Given the description of an element on the screen output the (x, y) to click on. 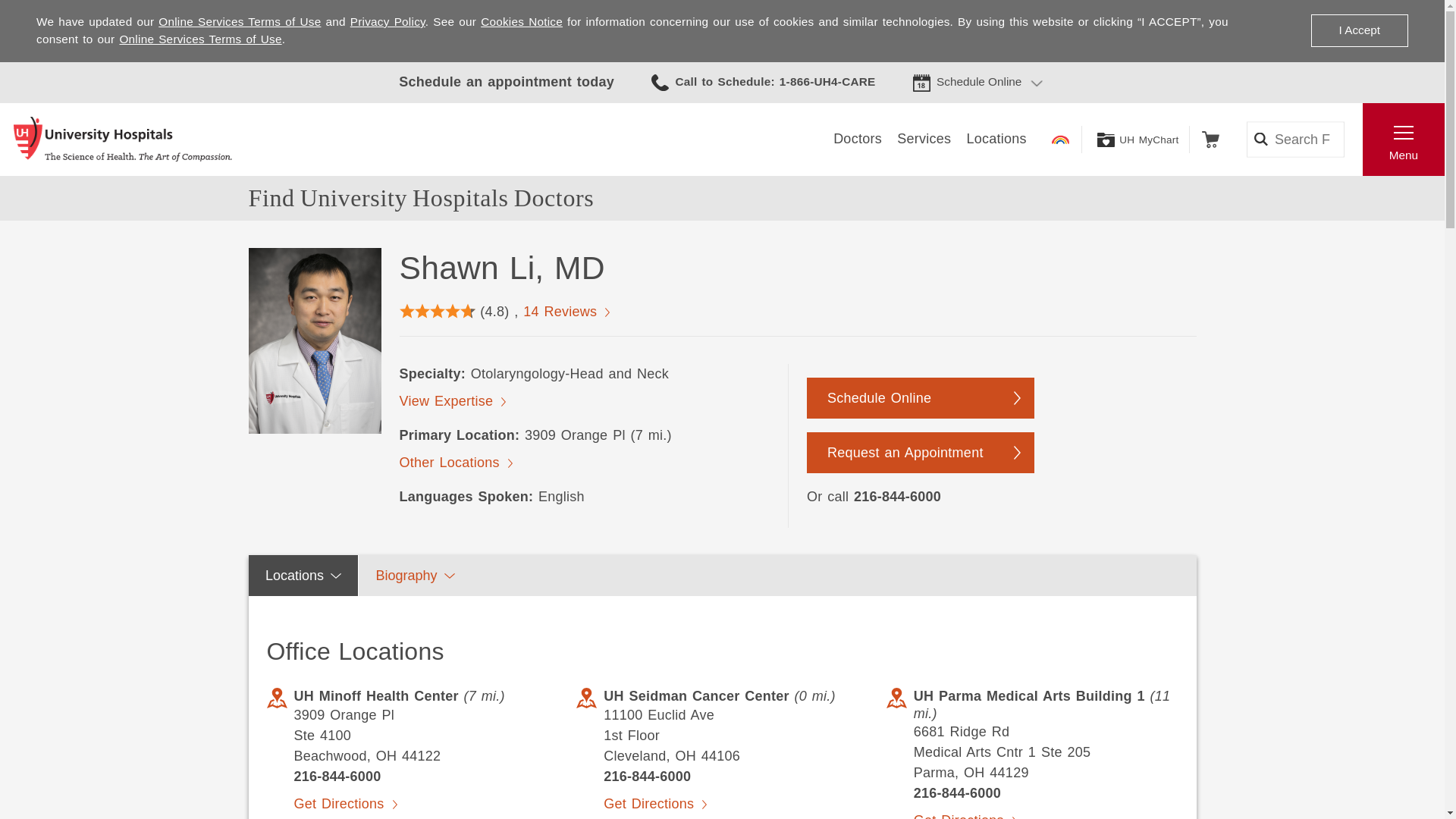
Call to Schedule: 1-866-UH4-CARE (763, 81)
Cookies Notice (521, 21)
Online Services Terms of Use (200, 38)
Privacy Policy (387, 21)
I Accept (1359, 30)
Schedule Online (978, 81)
Online Services Terms of Use (239, 21)
